Given the description of an element on the screen output the (x, y) to click on. 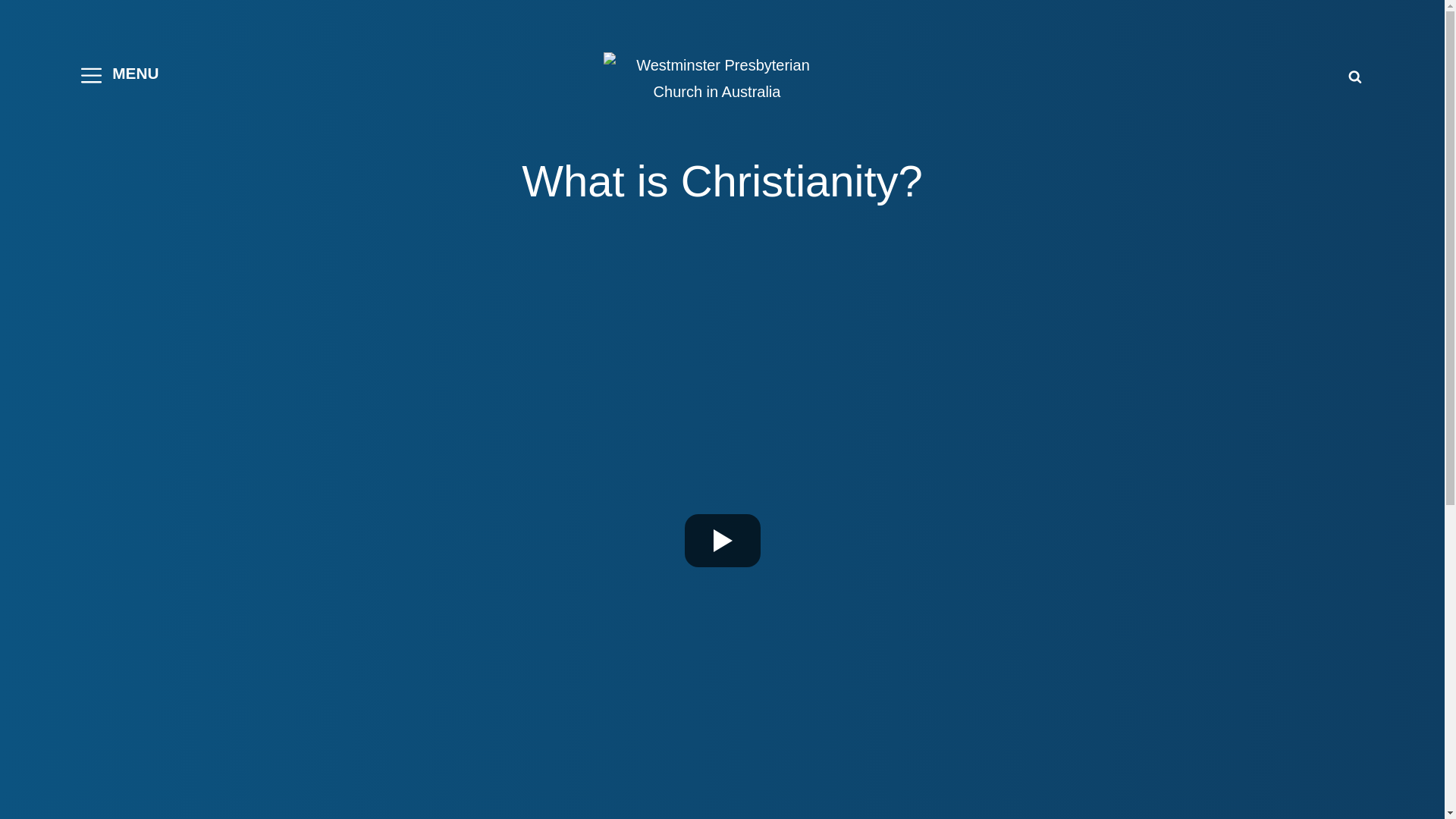
MENU Element type: text (119, 75)
Search Element type: text (1354, 75)
WESTMINSTER PRESBYTERIAN CHURCH IN AUSTRALIA Element type: text (1143, 96)
